Given the description of an element on the screen output the (x, y) to click on. 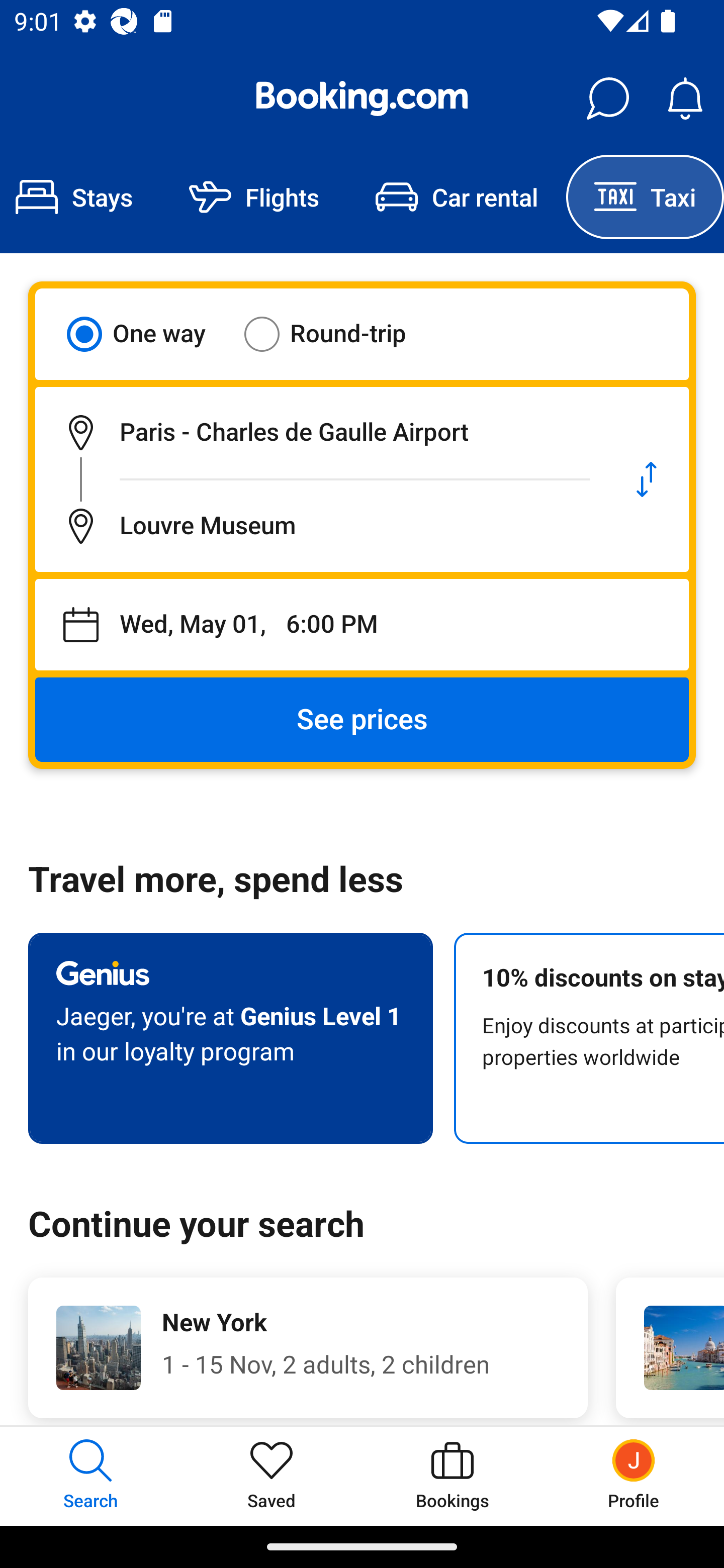
Messages (607, 98)
Notifications (685, 98)
Stays (80, 197)
Flights (253, 197)
Car rental (456, 197)
Taxi (645, 197)
Round-trip (337, 333)
Swap pick-up location and destination (646, 479)
Destination: Louvre Museum (319, 525)
Pick-up date: Wed, May 01 6:00 PM (361, 624)
See prices (361, 719)
New York 1 - 15 Nov, 2 adults, 2 children (307, 1347)
Saved (271, 1475)
Bookings (452, 1475)
Profile (633, 1475)
